Given the description of an element on the screen output the (x, y) to click on. 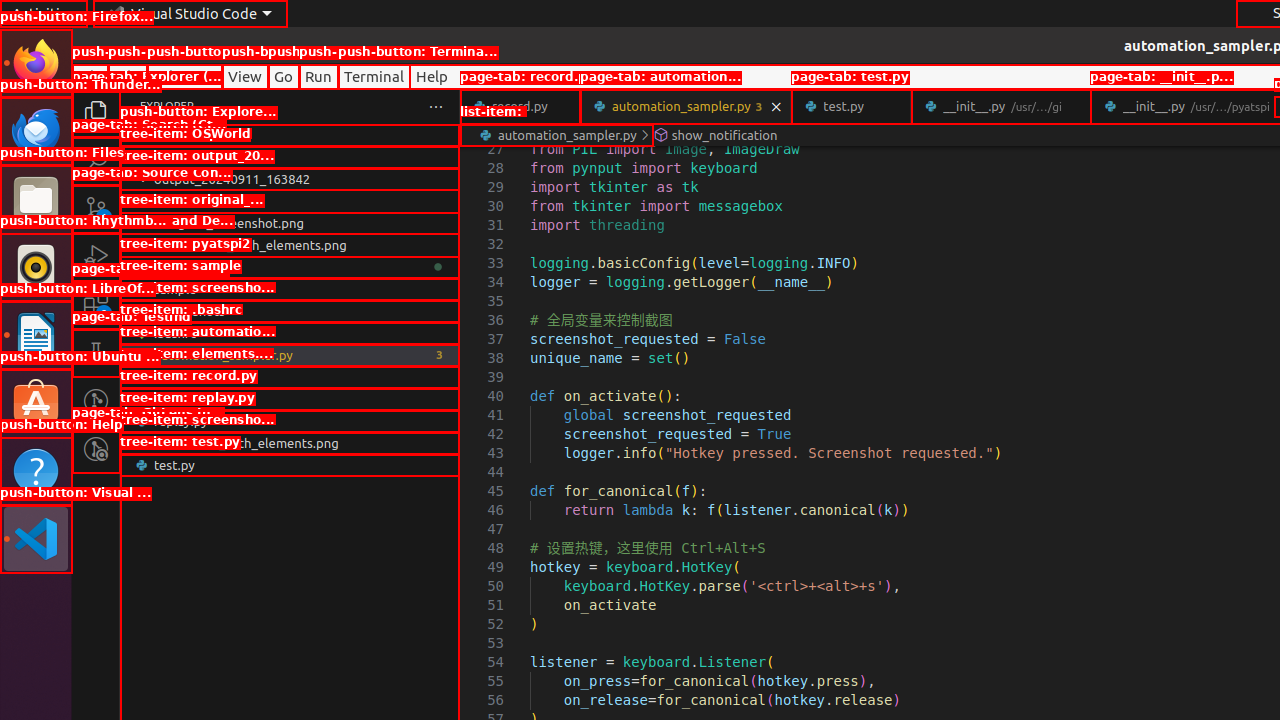
View Element type: push-button (245, 76)
Source Control (Ctrl+Shift+G G) - 1 pending changes Element type: page-tab (96, 208)
.bashrc Element type: tree-item (289, 333)
automation_sampler.py Element type: tree-item (289, 355)
screenshots Element type: tree-item (289, 311)
